Given the description of an element on the screen output the (x, y) to click on. 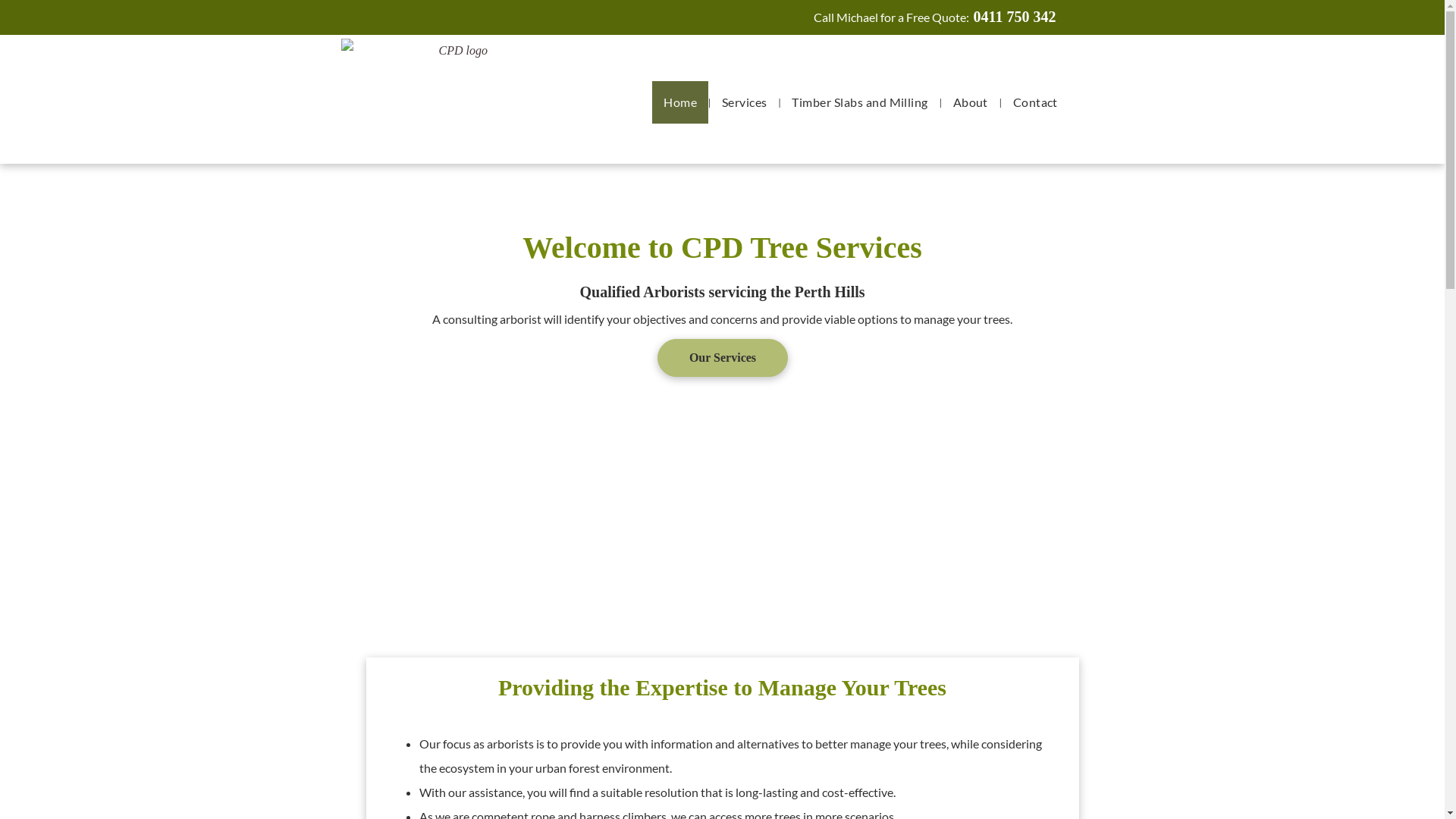
Contact Element type: text (1035, 102)
About Element type: text (970, 102)
Our Services Element type: text (721, 357)
Timber Slabs and Milling Element type: text (859, 102)
Services Element type: text (744, 102)
Home Element type: text (680, 102)
